Given the description of an element on the screen output the (x, y) to click on. 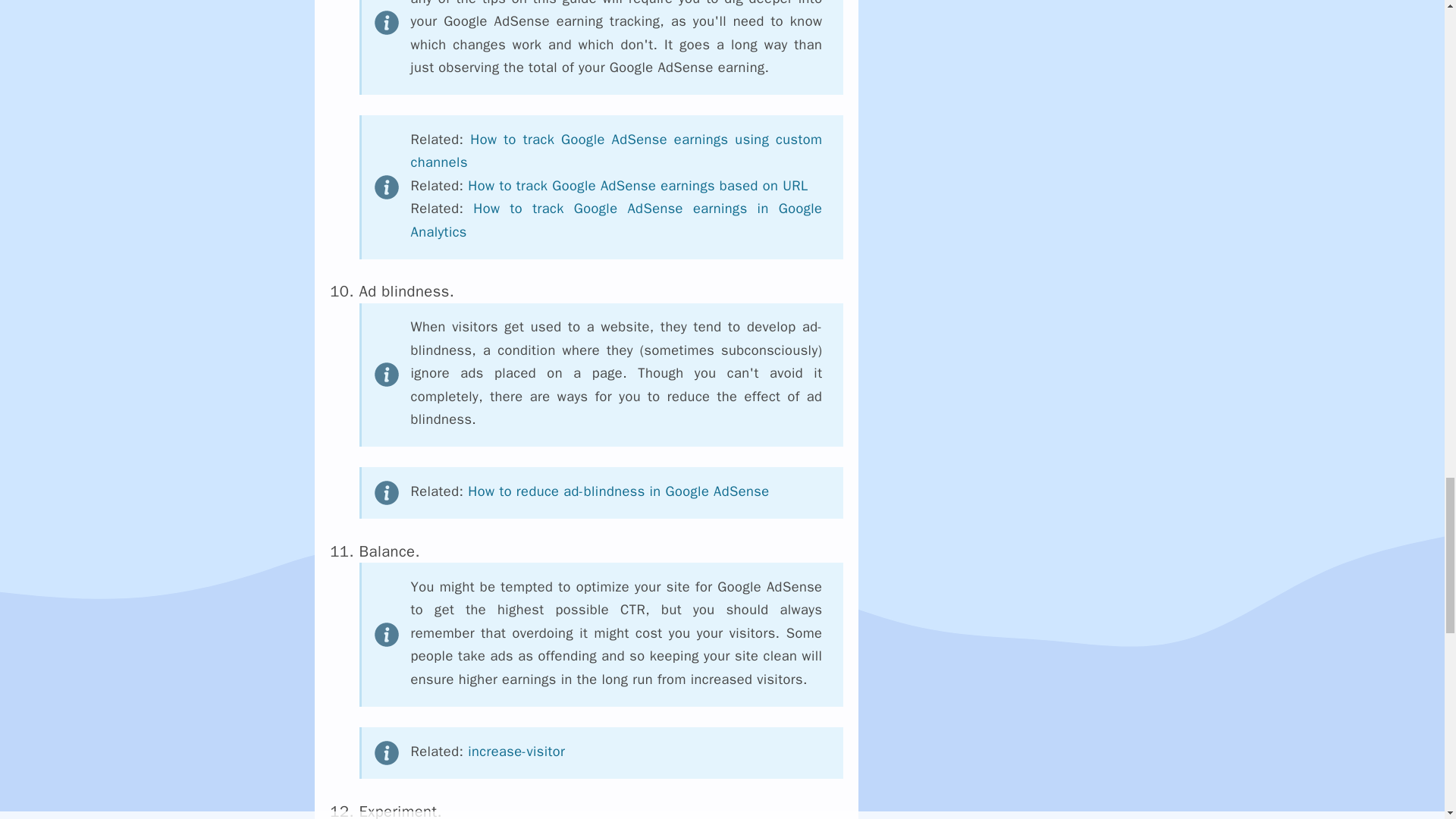
google-analytics:track-adsense (616, 219)
google-adsense:reduce-ad-blindness (617, 490)
webmaster:increase-visitor (515, 751)
google-adsense:track-earning-custom-channels (616, 150)
google-adsense:track-earning-url-channels (637, 185)
